Given the description of an element on the screen output the (x, y) to click on. 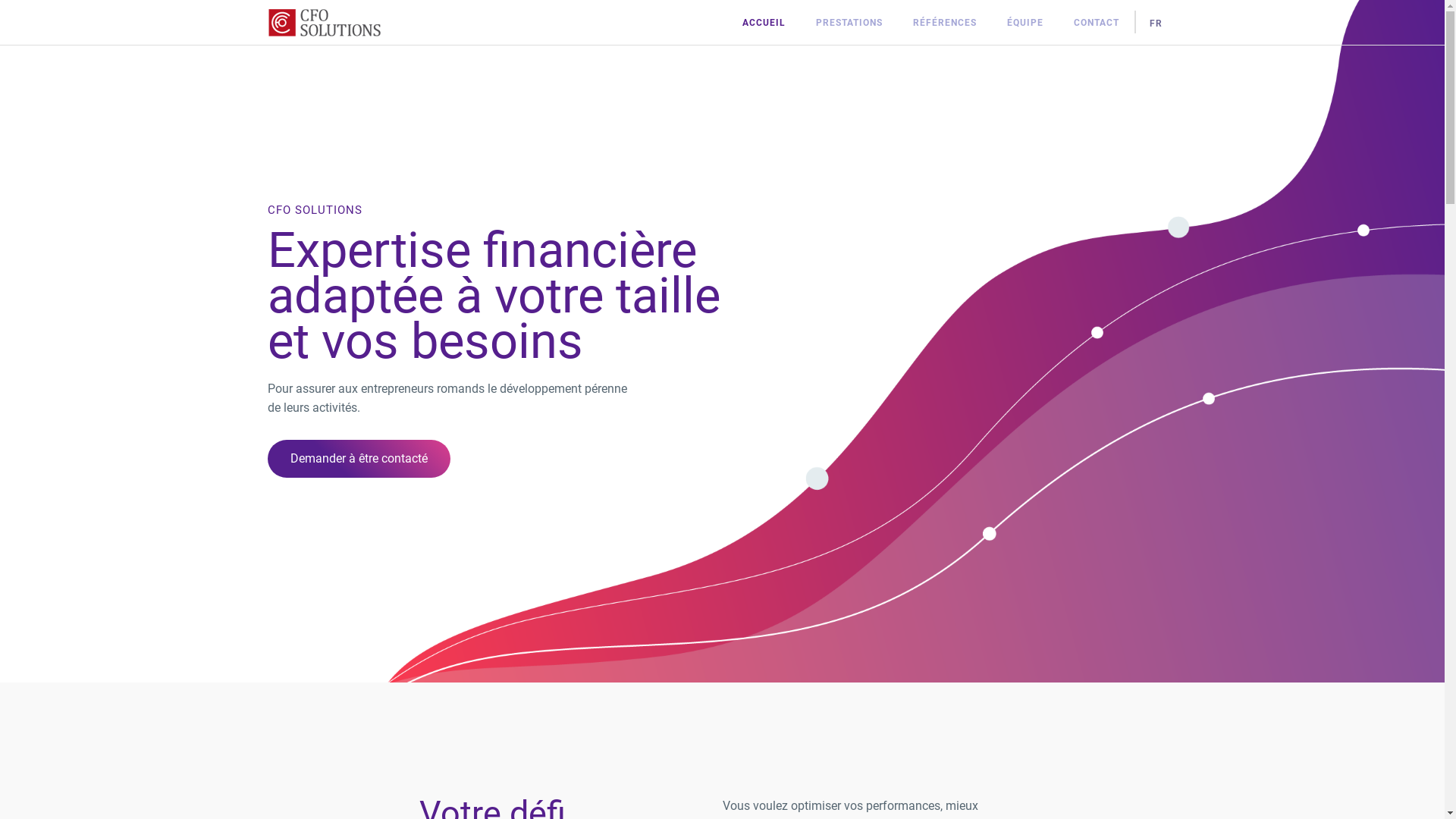
CONTACT Element type: text (1096, 21)
FR Element type: text (1155, 21)
PRESTATIONS Element type: text (848, 21)
logo Element type: hover (323, 22)
ACCUEIL Element type: text (763, 21)
